Given the description of an element on the screen output the (x, y) to click on. 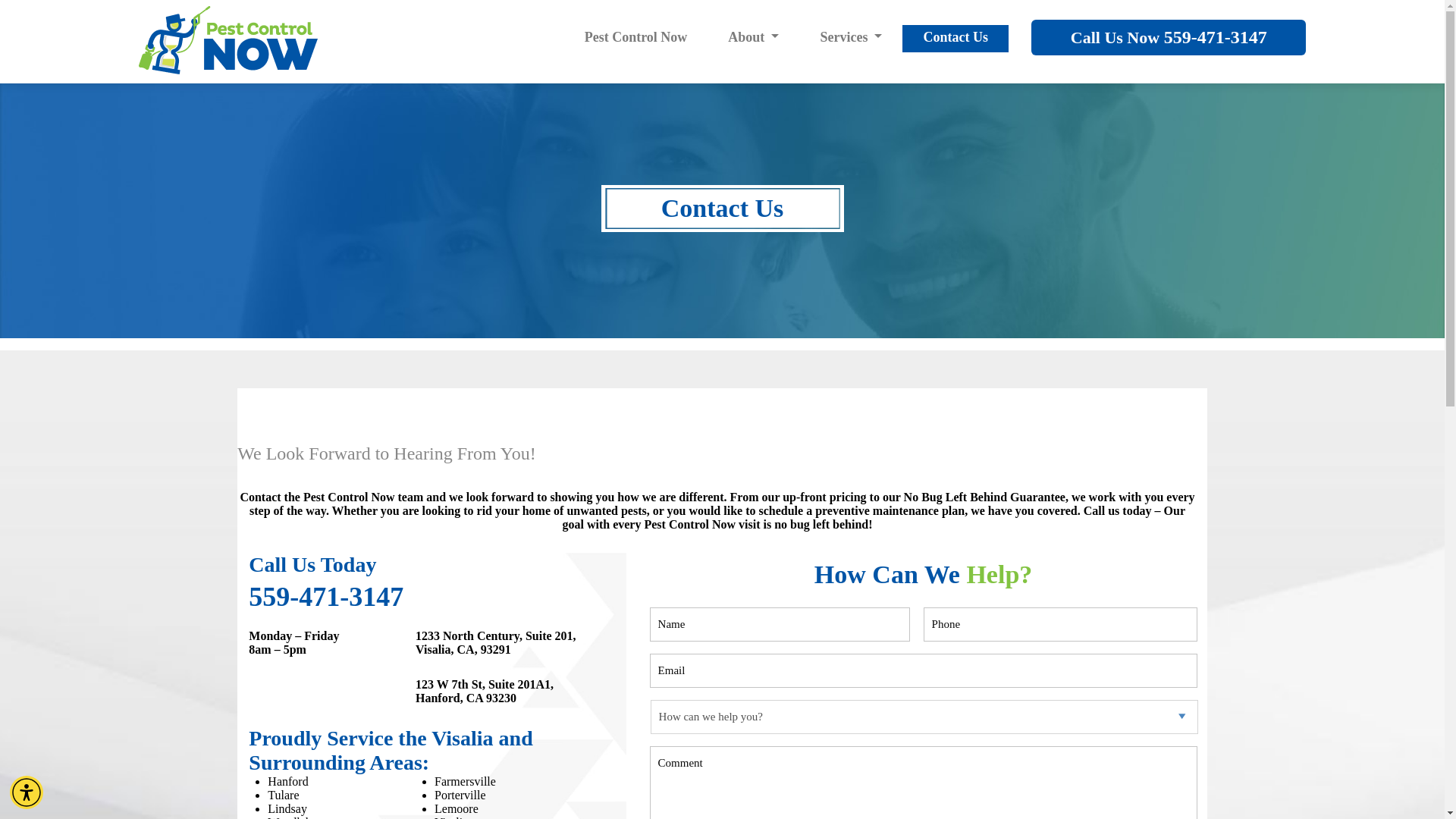
Pest Control Now (635, 38)
About (753, 38)
Accessibility Menu (26, 792)
Contact Us (955, 38)
Services (850, 38)
559-471-3147 (1214, 36)
559-471-3147 (325, 596)
